Given the description of an element on the screen output the (x, y) to click on. 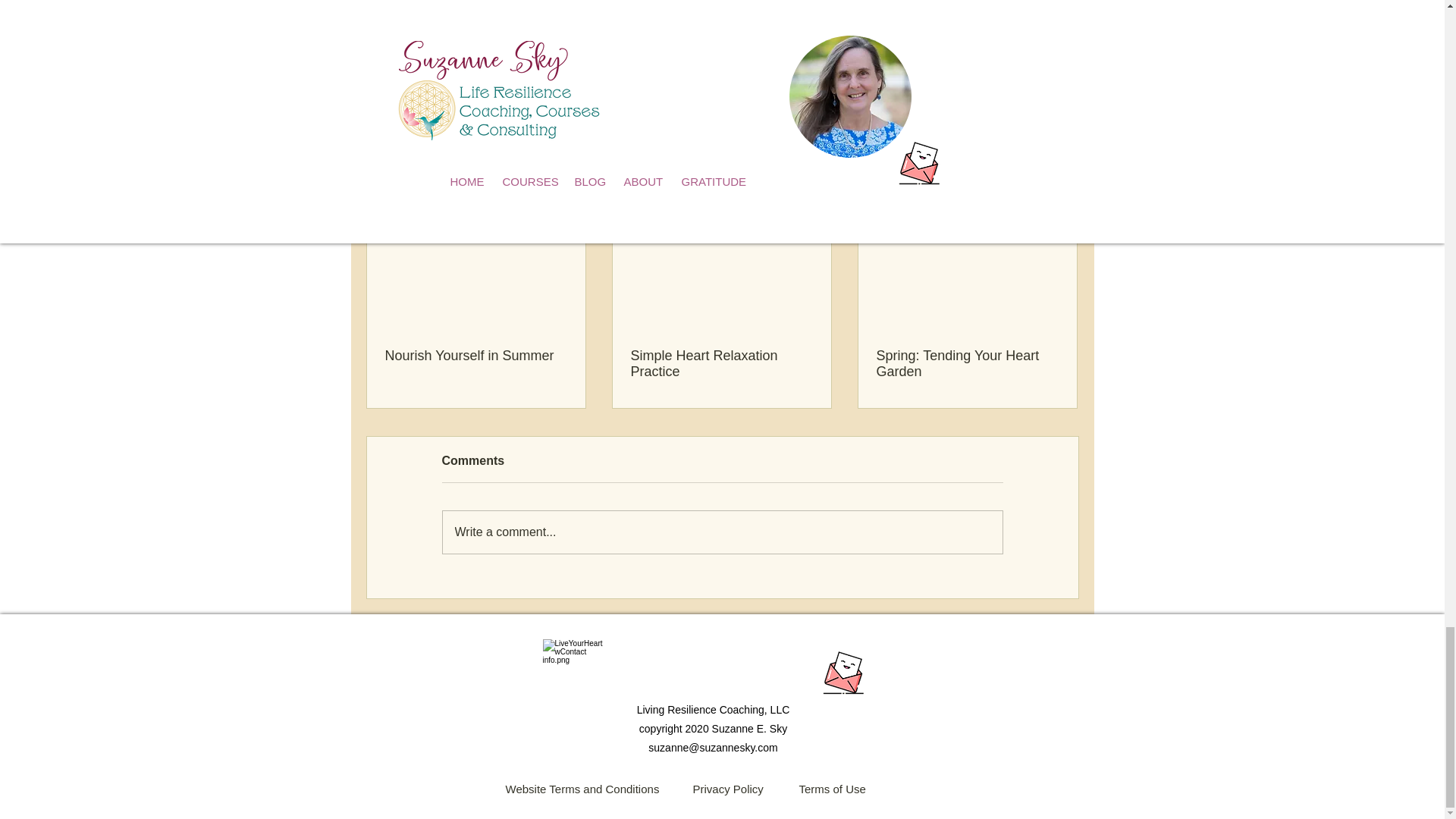
Spring (865, 82)
Wellness (574, 26)
See All (1061, 179)
Write a comment... (722, 532)
Spring (655, 26)
Resilience (978, 82)
Heart (618, 26)
Resilience (520, 26)
Self-Care (463, 26)
Seasons (916, 82)
Spring: Tending Your Heart Garden (967, 364)
Nourish Yourself in Summer (476, 355)
Simple Heart Relaxation Practice (721, 364)
